Given the description of an element on the screen output the (x, y) to click on. 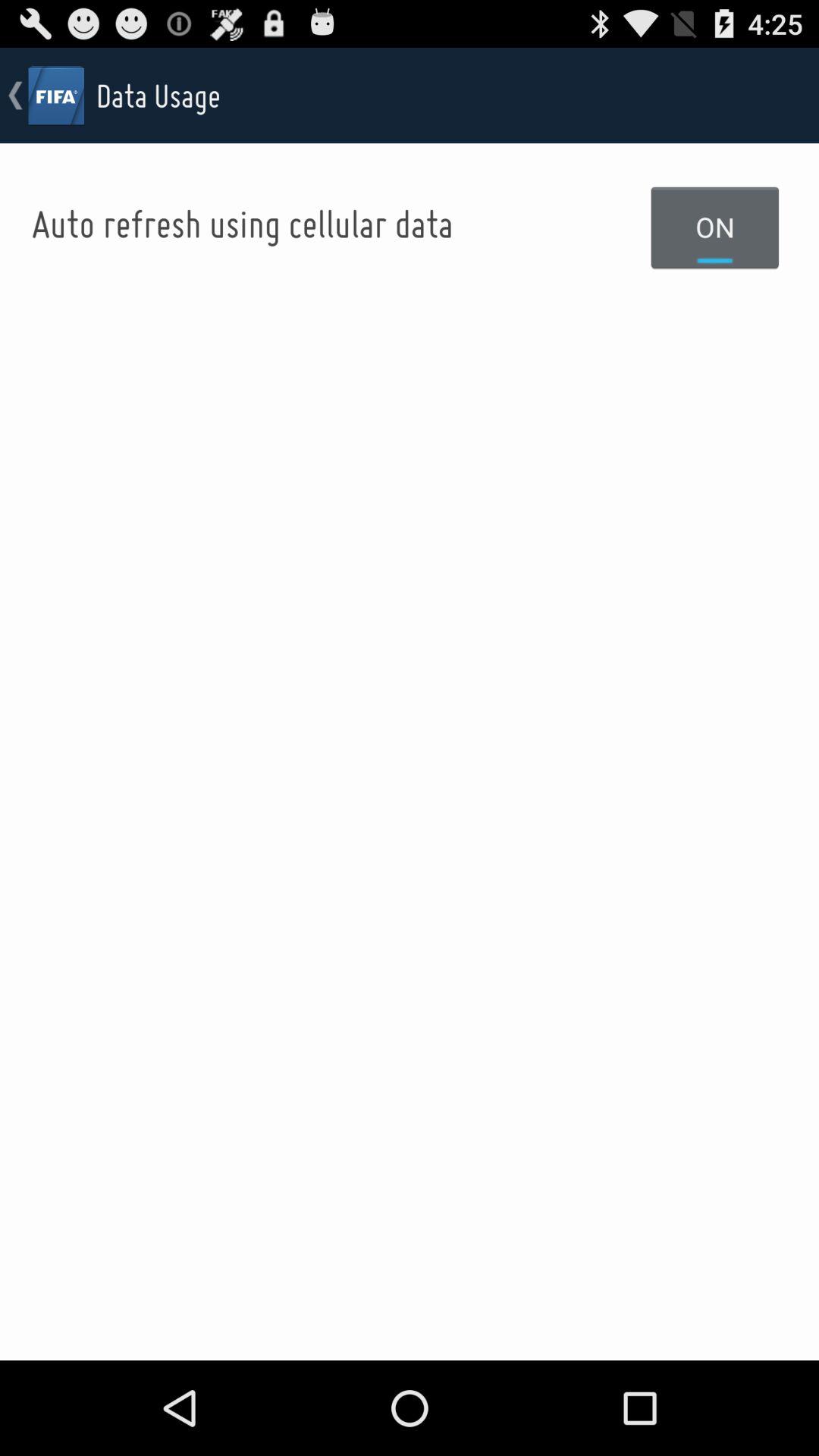
turn off item at the top right corner (714, 226)
